Given the description of an element on the screen output the (x, y) to click on. 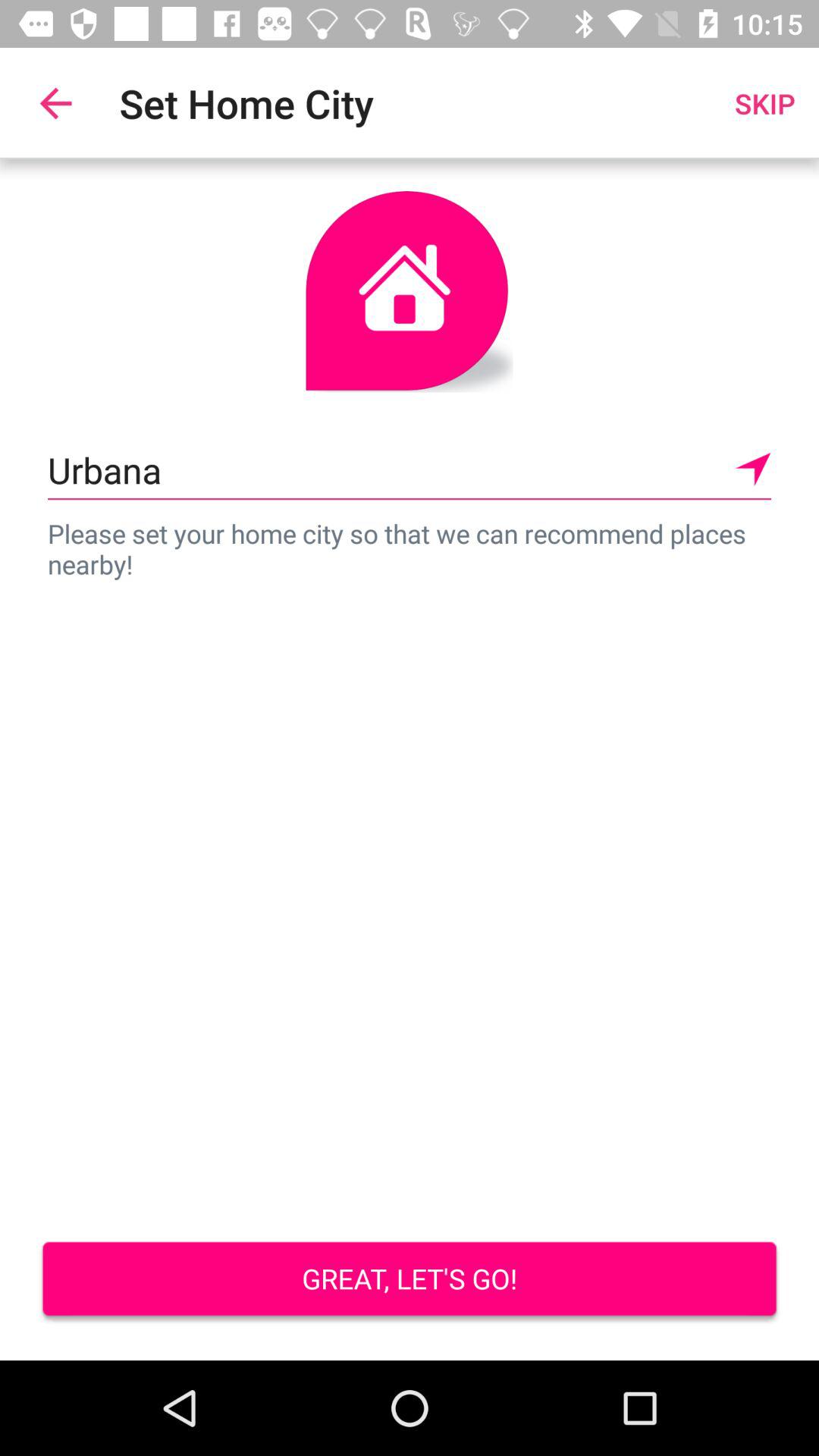
swipe until great let s (409, 1280)
